Given the description of an element on the screen output the (x, y) to click on. 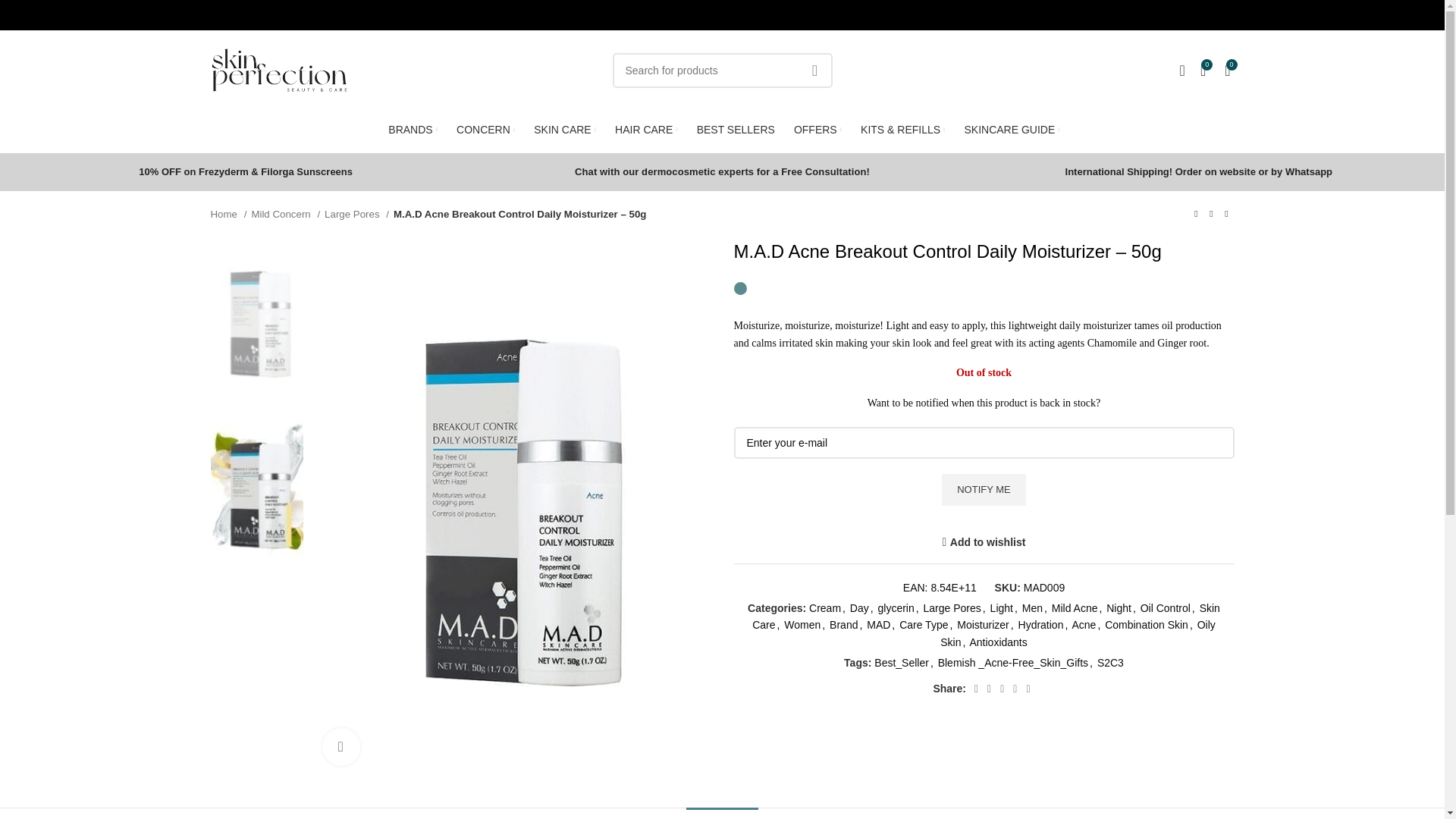
SEARCH (814, 70)
Search for products (722, 70)
BRANDS (413, 129)
